Given the description of an element on the screen output the (x, y) to click on. 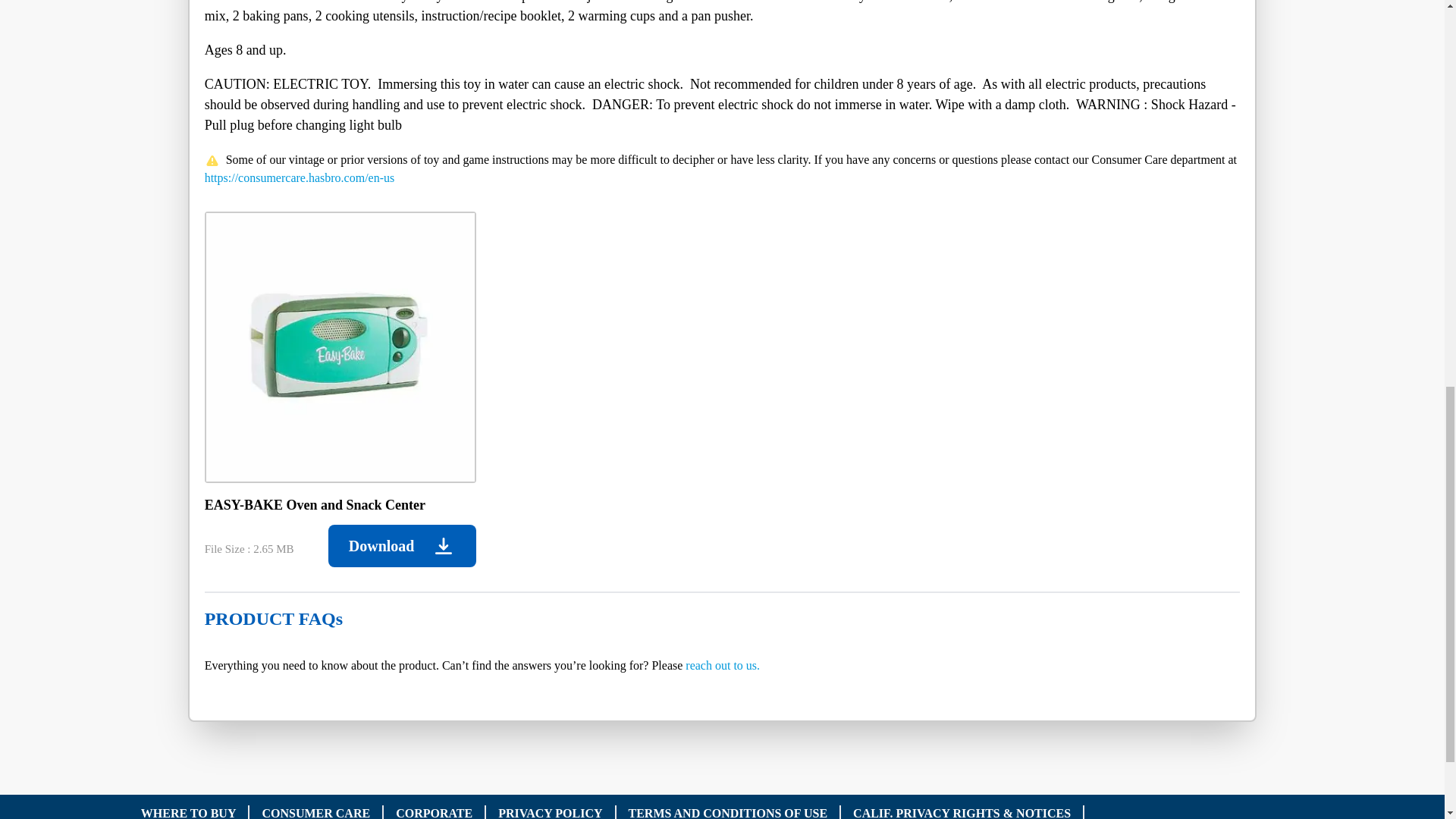
CONSUMER CARE (315, 812)
WHERE TO BUY (188, 812)
CORPORATE (433, 812)
reach out to us. (722, 665)
TERMS AND CONDITIONS OF USE (728, 812)
Download (402, 545)
PRIVACY POLICY (549, 812)
